Given the description of an element on the screen output the (x, y) to click on. 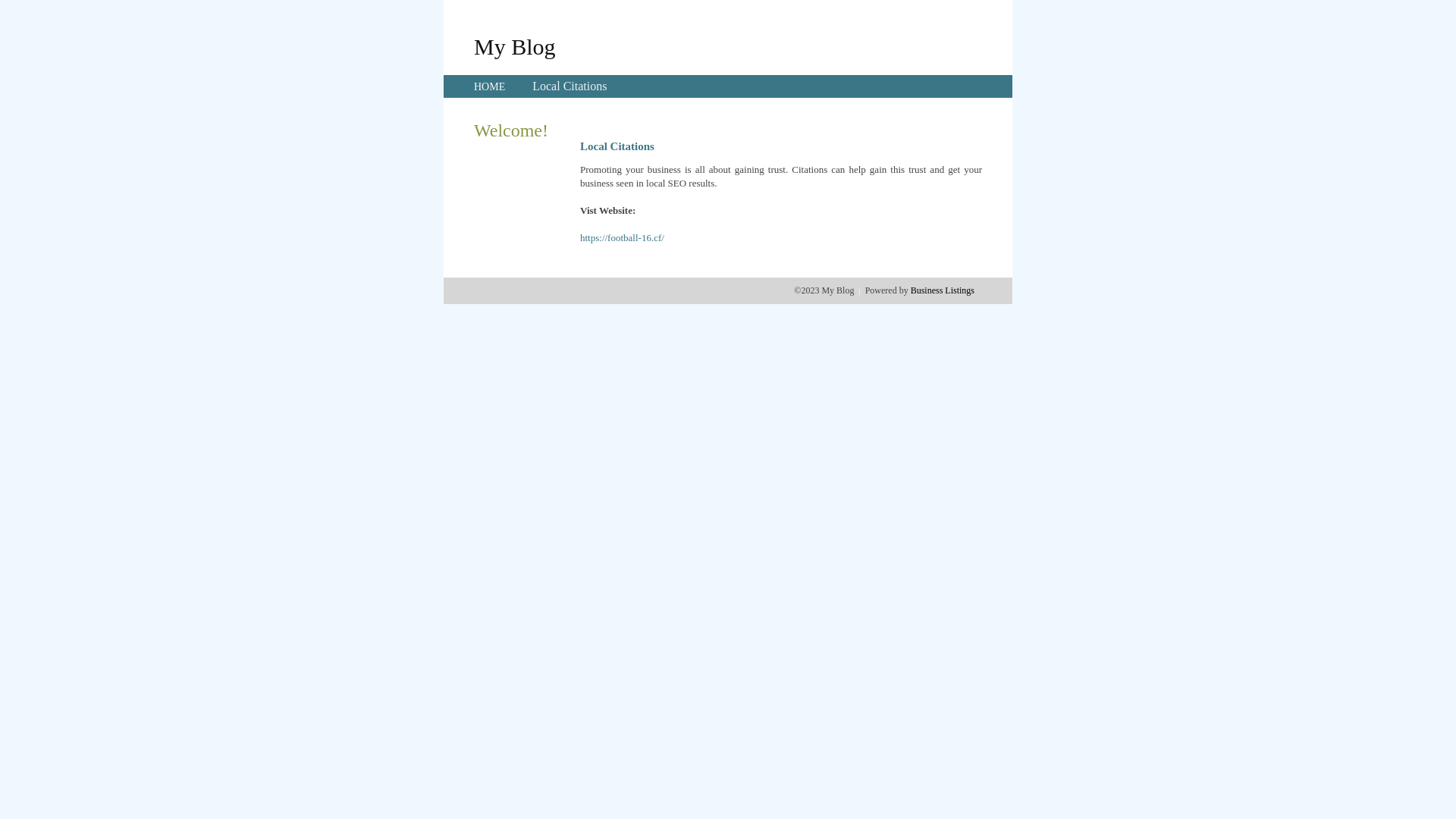
Business Listings Element type: text (942, 290)
Local Citations Element type: text (569, 85)
https://football-16.cf/ Element type: text (622, 237)
HOME Element type: text (489, 86)
My Blog Element type: text (514, 46)
